Given the description of an element on the screen output the (x, y) to click on. 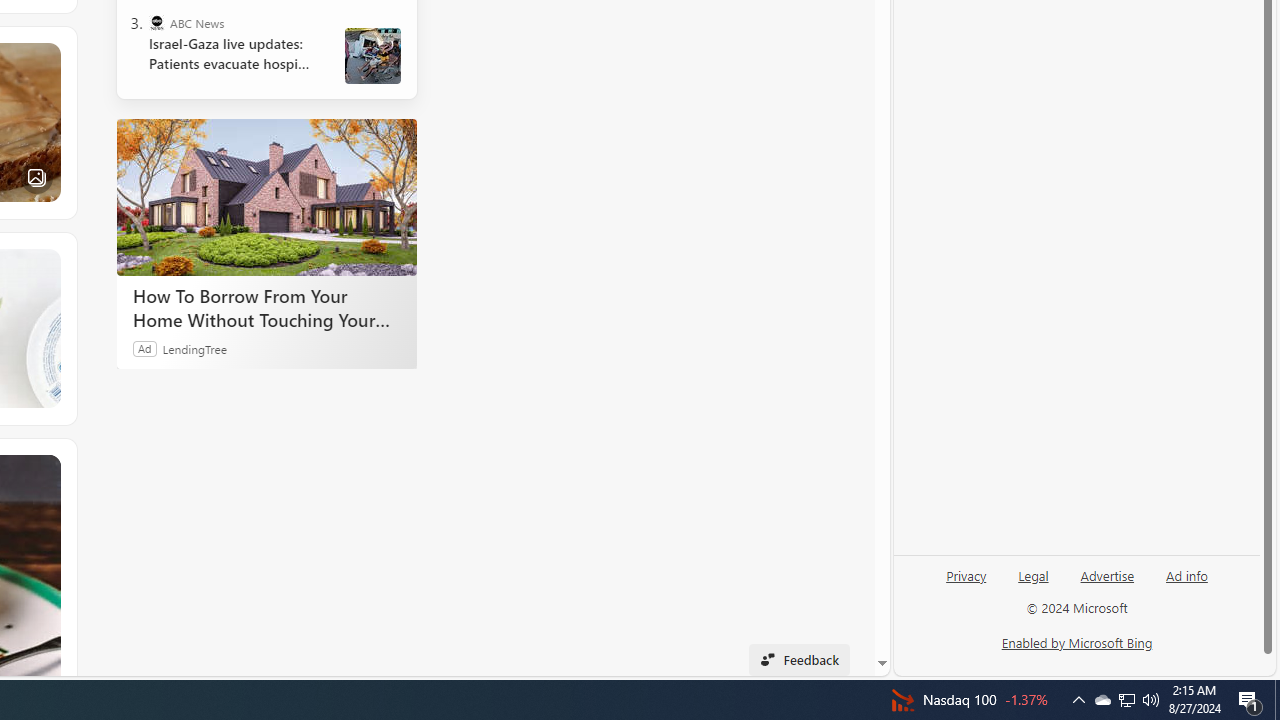
Ad info (1186, 583)
